Given the description of an element on the screen output the (x, y) to click on. 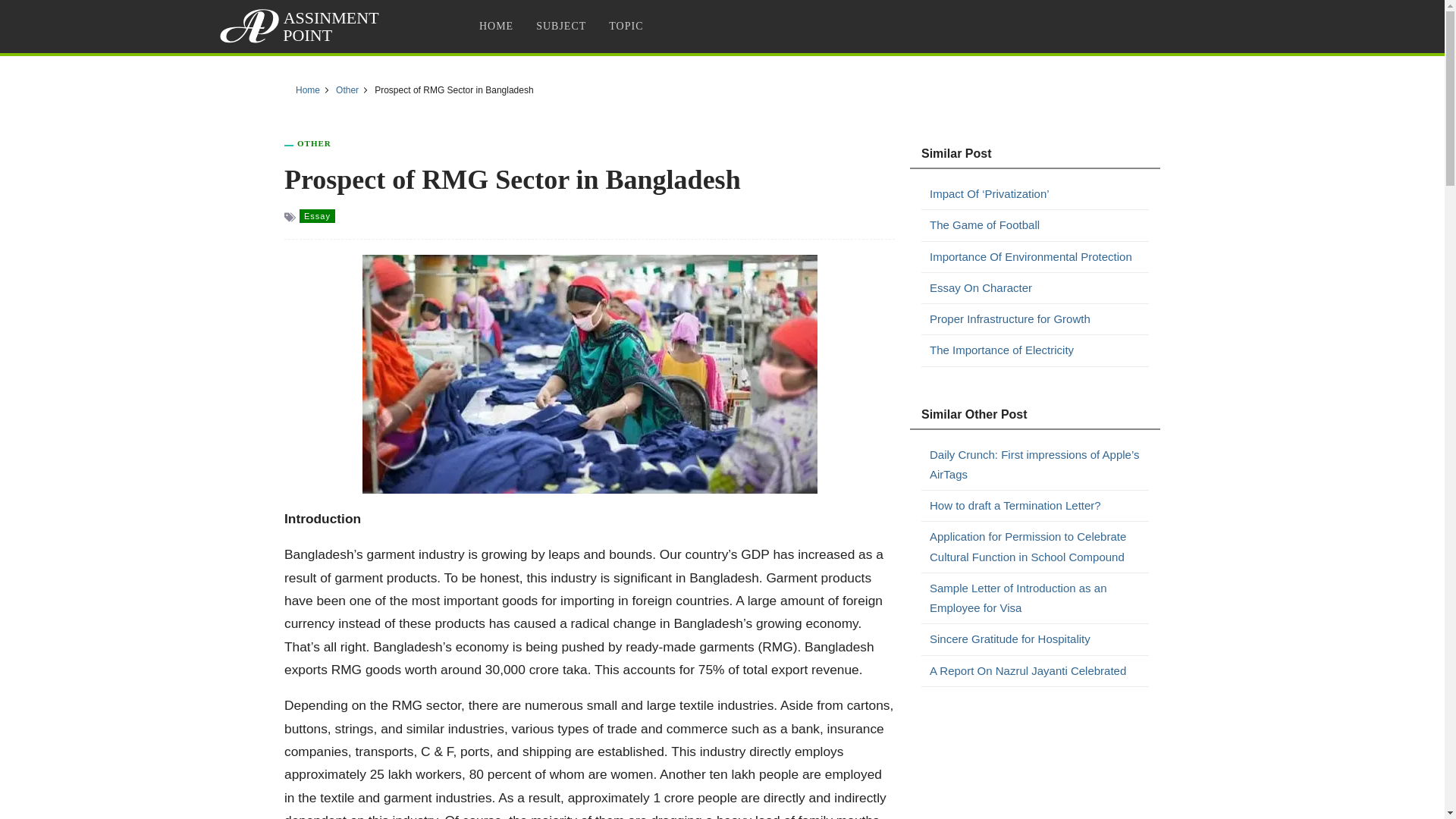
Essay (316, 215)
Sincere Gratitude for Hospitality (1039, 639)
The Importance of Electricity (1039, 350)
How to draft a Termination Letter? (1039, 505)
OTHER (314, 143)
The Game of Football (1039, 225)
Importance Of Environmental Protection (1039, 256)
SUBJECT (560, 26)
HOME (495, 26)
Other (347, 90)
Other (314, 143)
Sample Letter of Introduction as an Employee for Visa (1039, 598)
Home (307, 90)
The Importance of Electricity (1039, 350)
Sincere Gratitude for Hospitality (1039, 639)
